Given the description of an element on the screen output the (x, y) to click on. 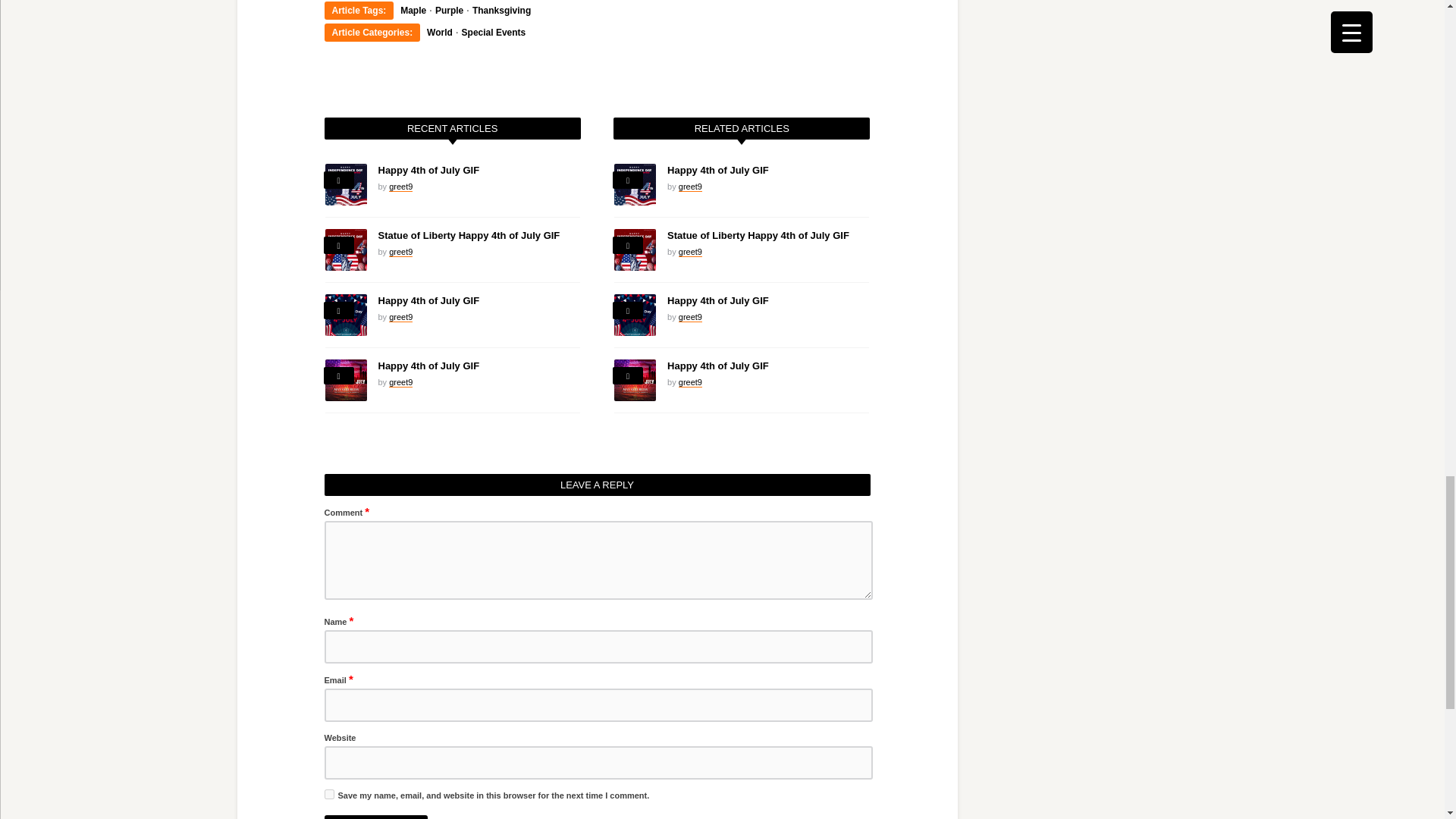
Post Comment (376, 816)
World (439, 32)
Happy 4th of July GIF 4 (345, 184)
greet9 (400, 252)
greet9 (400, 186)
yes (329, 794)
Statue of Liberty Happy 4th of July GIF (468, 235)
Happy 4th of July GIF 6 (345, 314)
Posts by greet9 (400, 317)
Posts by greet9 (400, 186)
